Given the description of an element on the screen output the (x, y) to click on. 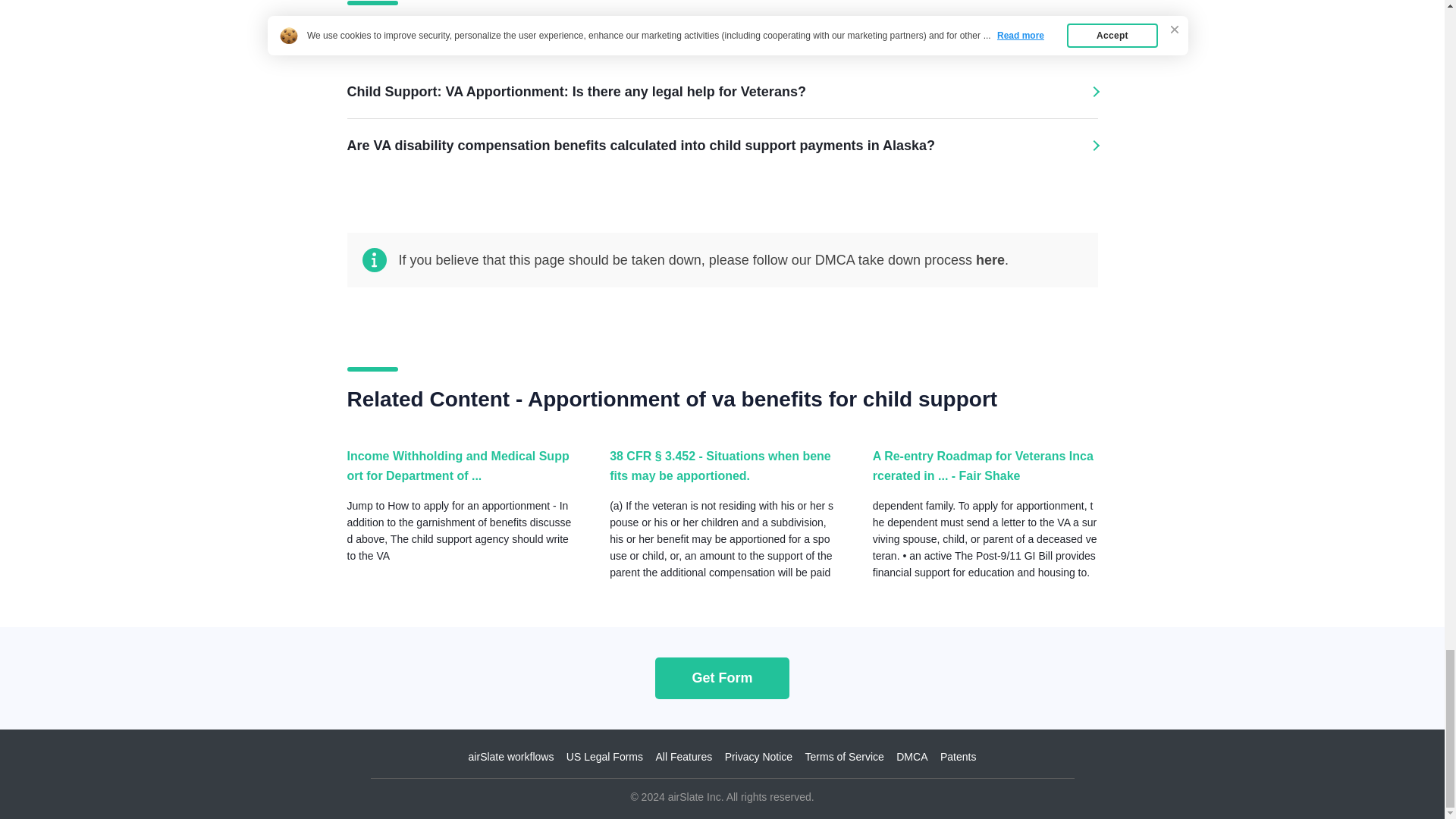
Get Form (722, 677)
All Features (683, 756)
here (989, 259)
Patents (957, 756)
US Legal Forms (604, 756)
Privacy Notice (758, 756)
DMCA (911, 756)
airSlate workflows (511, 756)
Terms of Service (844, 756)
